Given the description of an element on the screen output the (x, y) to click on. 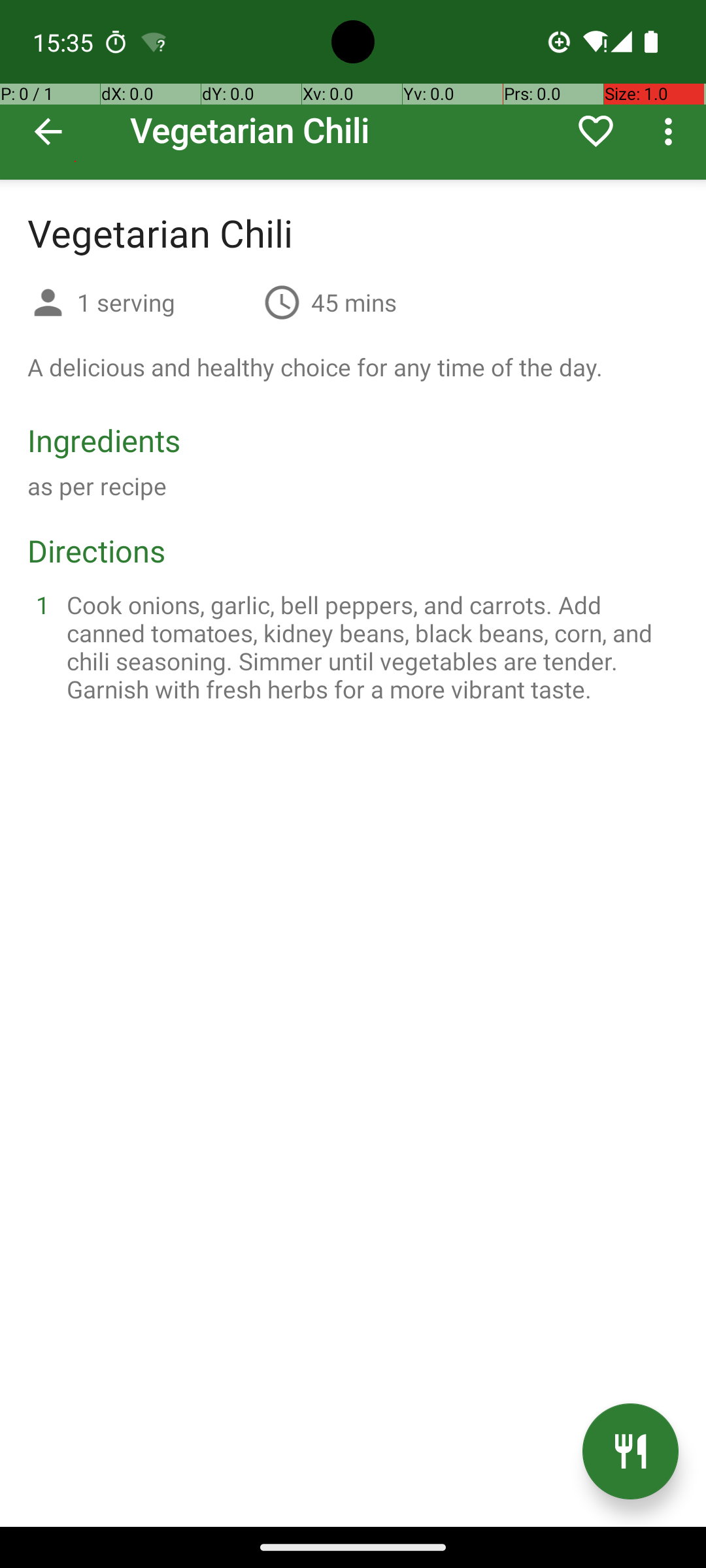
Vegetarian Chili Element type: android.widget.FrameLayout (353, 89)
Cook onions, garlic, bell peppers, and carrots. Add canned tomatoes, kidney beans, black beans, corn, and chili seasoning. Simmer until vegetables are tender. Garnish with fresh herbs for a more vibrant taste. Element type: android.widget.TextView (368, 646)
